Given the description of an element on the screen output the (x, y) to click on. 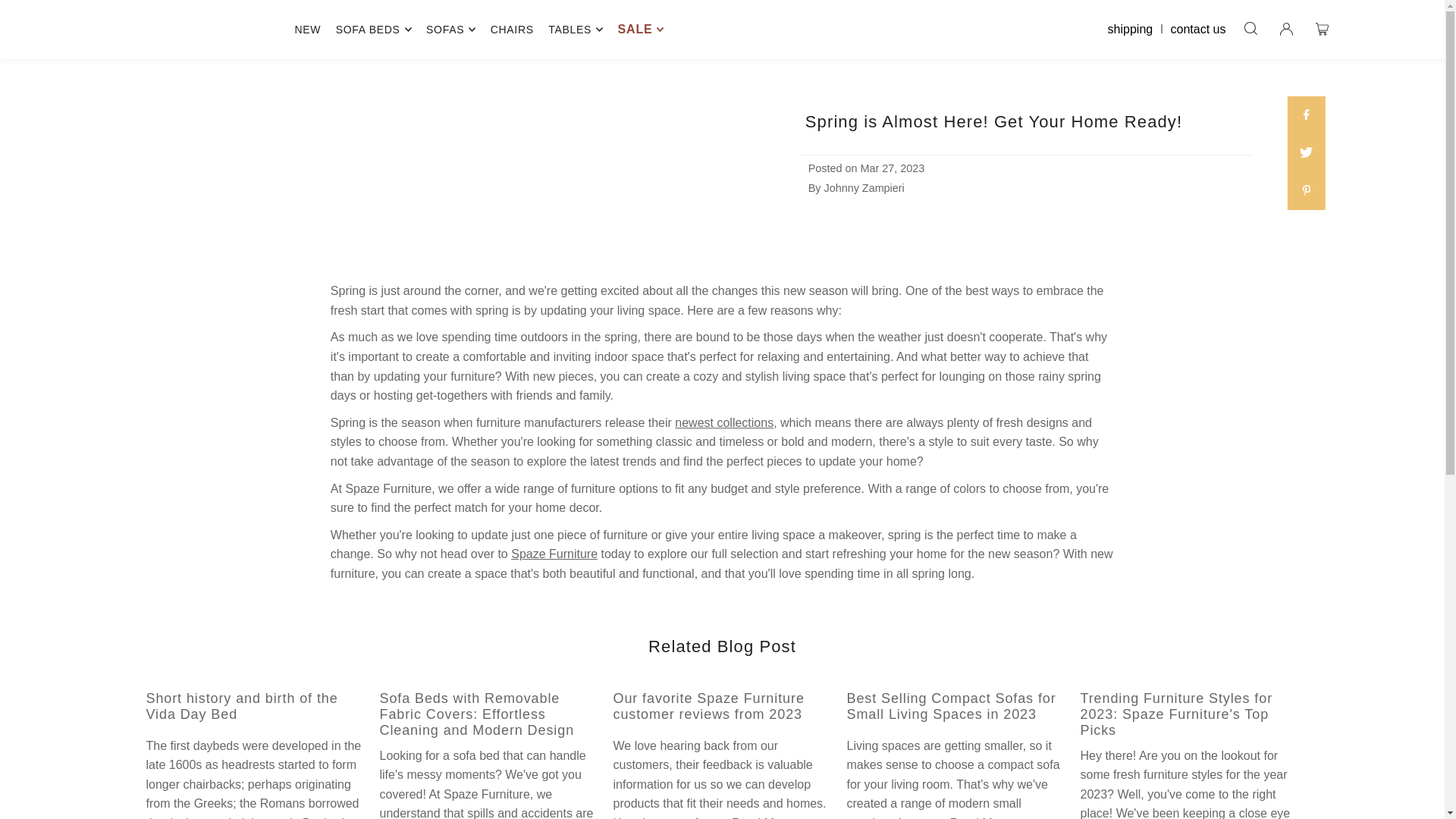
SOFA BEDS (374, 29)
Share on Twitter (1305, 152)
Share on Pinterest (1305, 190)
Share on Facebook (1305, 115)
SPAZE Shipping (1134, 29)
